Given the description of an element on the screen output the (x, y) to click on. 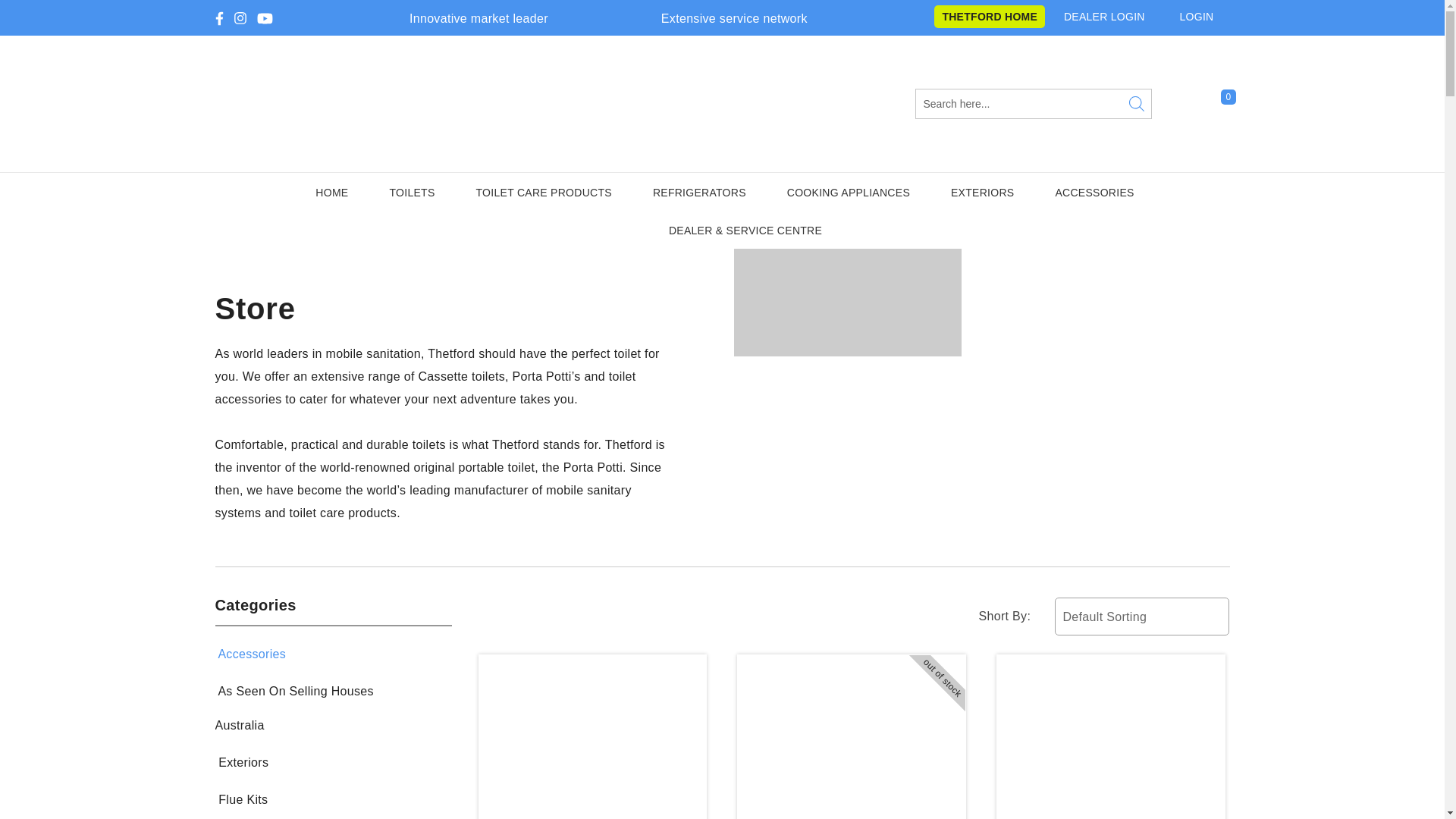
Thetford (467, 104)
DEALER LOGIN (1112, 16)
My Account (1183, 103)
TOILETS (410, 191)
LOGIN (1204, 16)
THETFORD HOME (989, 15)
